Given the description of an element on the screen output the (x, y) to click on. 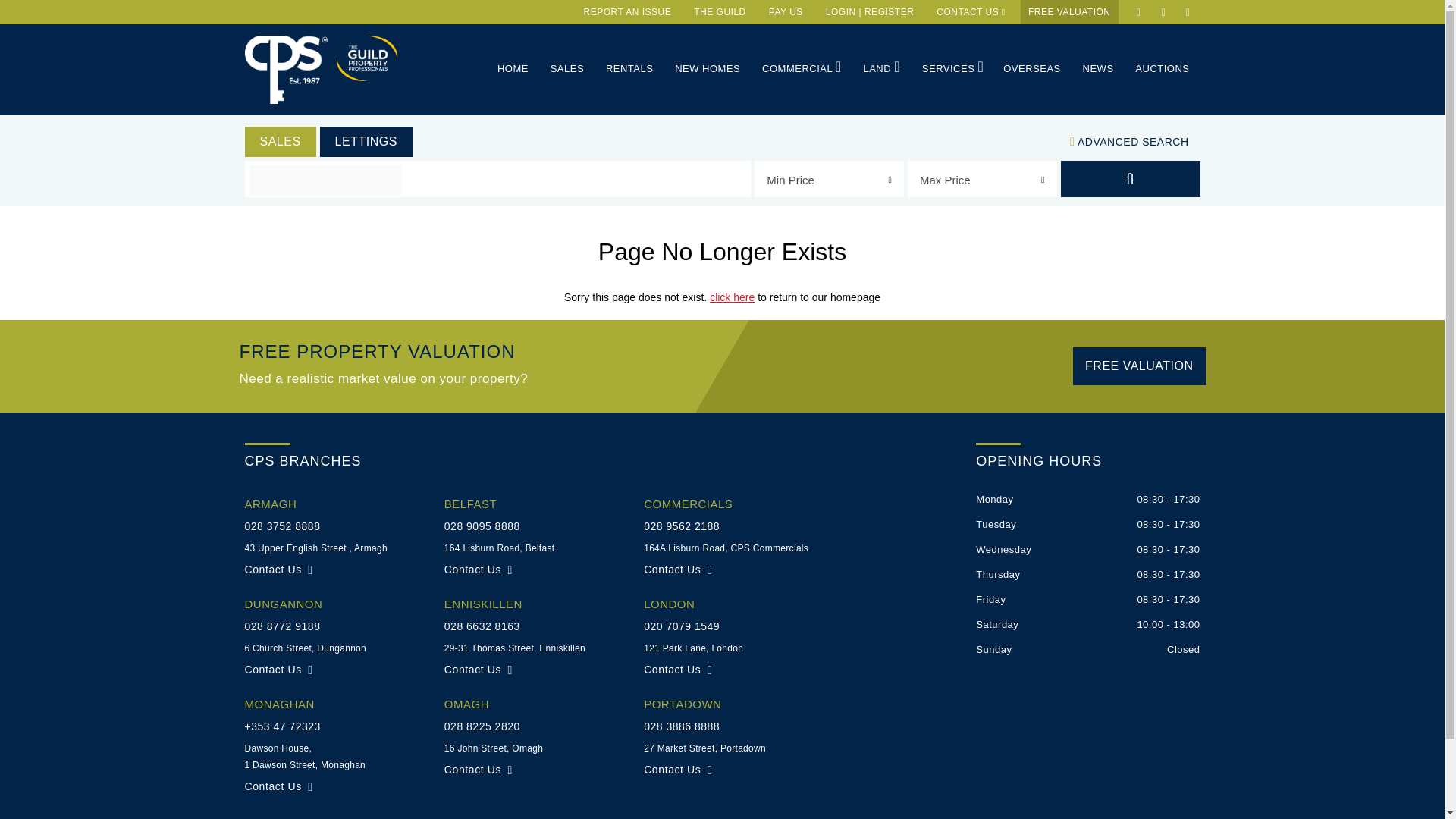
CONTACT US (970, 12)
REPORT AN ISSUE (627, 12)
FREE VALUATION (1069, 12)
CPS Property - The Guild Property Professionals (365, 58)
NEW HOMES (707, 68)
COMMERCIAL (801, 68)
THE GUILD (719, 12)
CPS Property Belfast Armagh Dungannon Omagh Enniskillen (285, 70)
PAY US (785, 12)
